Given the description of an element on the screen output the (x, y) to click on. 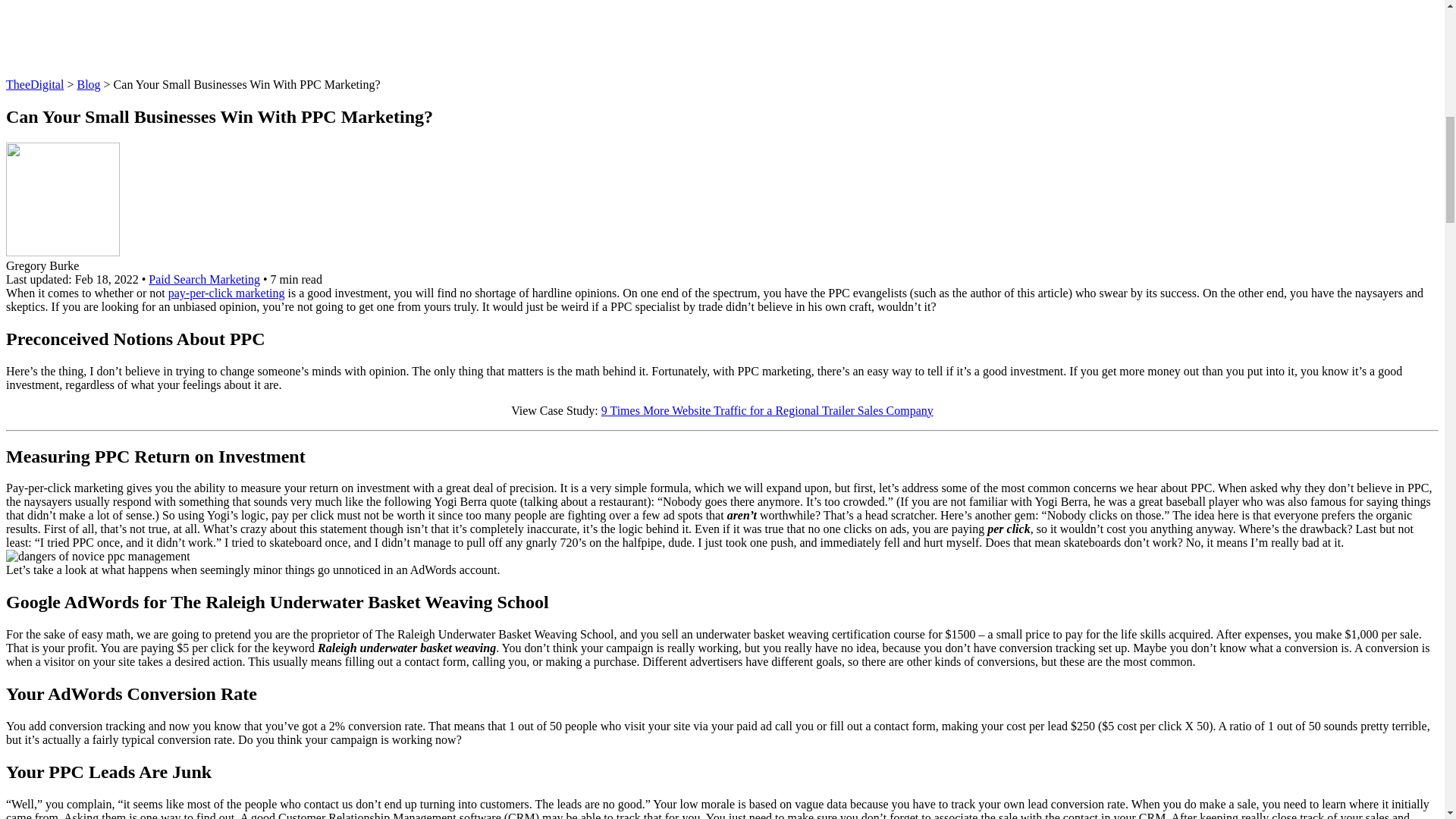
PPC Marketing (226, 292)
